Given the description of an element on the screen output the (x, y) to click on. 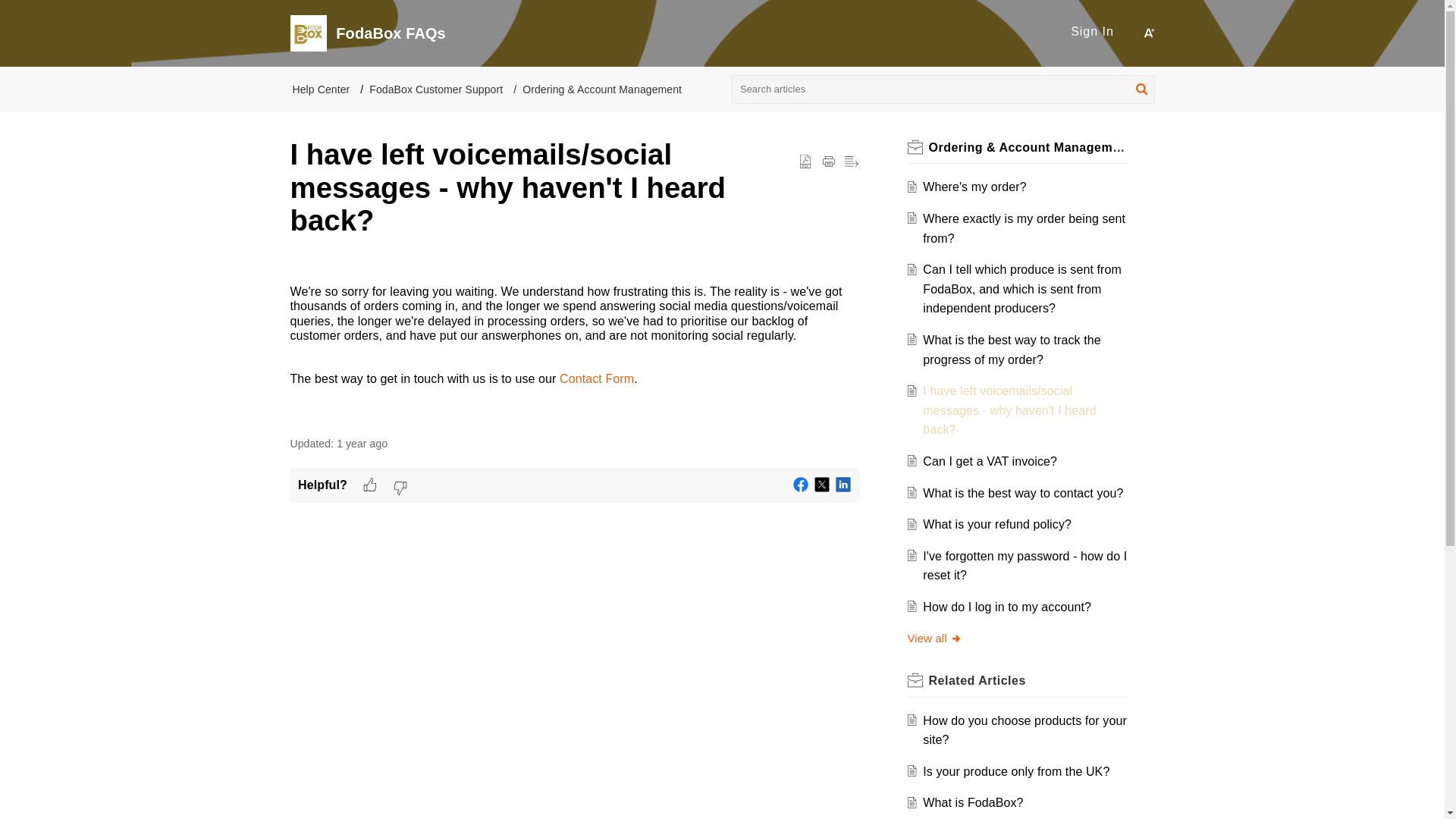
Where exactly is my order being sent from? (1024, 228)
Facebook (800, 484)
Sign In (1091, 31)
Is your produce only from the UK? (1016, 771)
I've forgotten my password - how do I reset it? (1024, 565)
Help Center (321, 89)
Can I get a VAT invoice? (990, 461)
How do I log in to my account? (1006, 606)
What is the best way to contact you? (1022, 492)
